Given the description of an element on the screen output the (x, y) to click on. 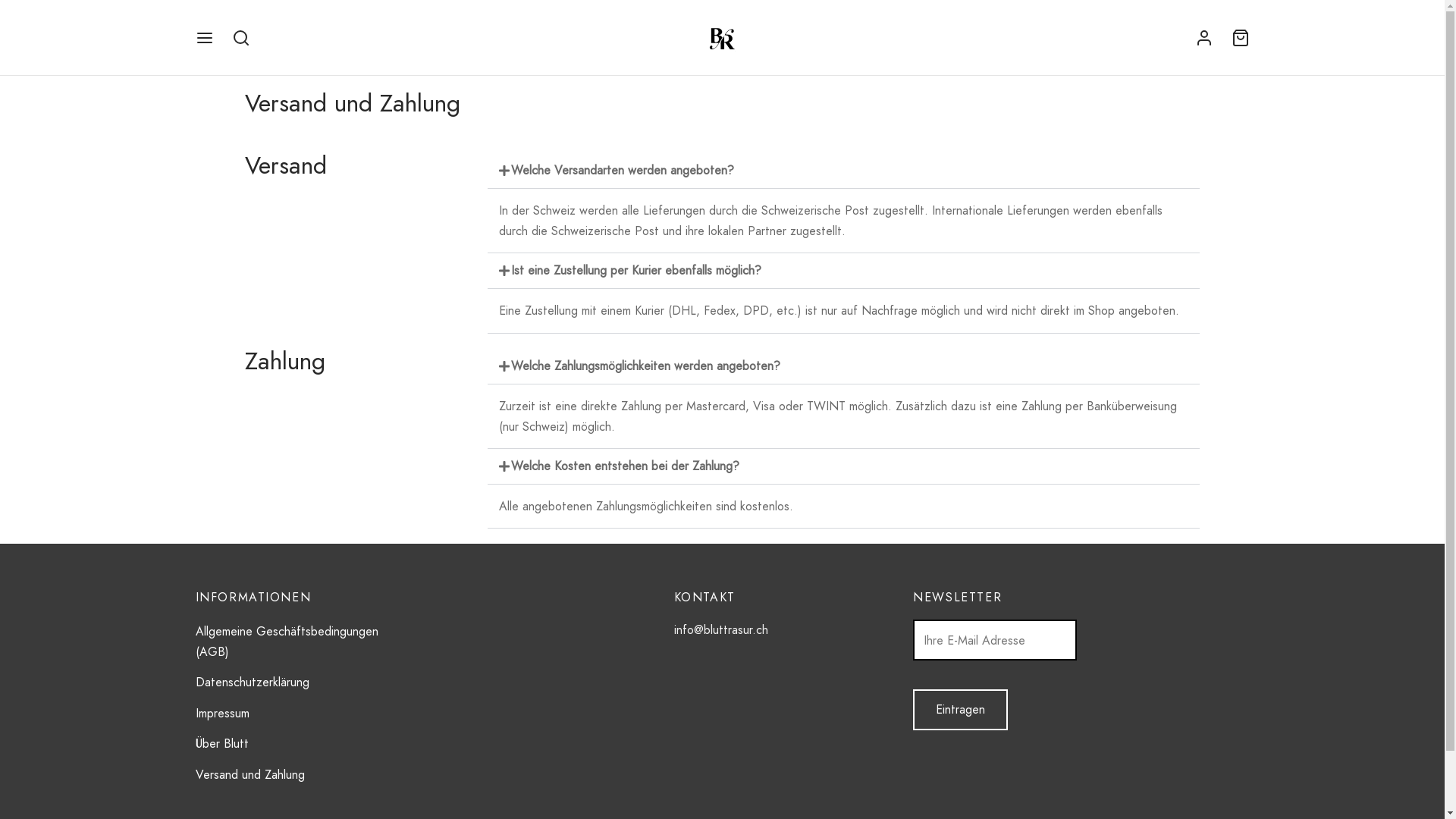
Suche Element type: text (30, 18)
Versand und Zahlung Element type: text (249, 773)
Impressum Element type: text (222, 712)
Eintragen Element type: text (960, 709)
Welche Versandarten werden angeboten? Element type: text (622, 169)
Warenkorb Element type: hover (1240, 37)
Welche Kosten entstehen bei der Zahlung? Element type: text (625, 465)
